Given the description of an element on the screen output the (x, y) to click on. 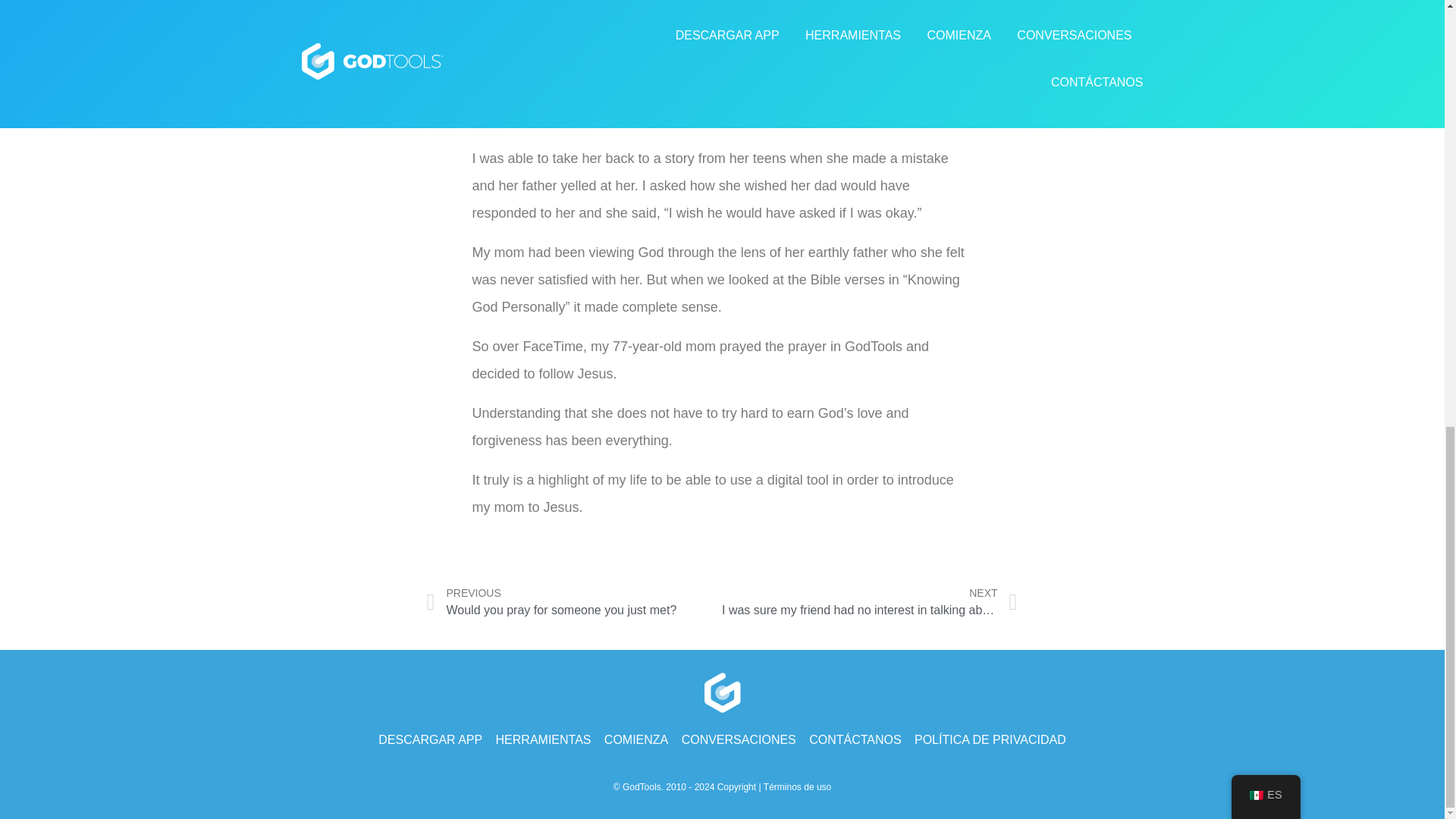
DESCARGAR APP (574, 602)
HERRAMIENTAS (429, 740)
Copyright (543, 740)
CONVERSACIONES (736, 787)
COMIENZA (738, 740)
